Given the description of an element on the screen output the (x, y) to click on. 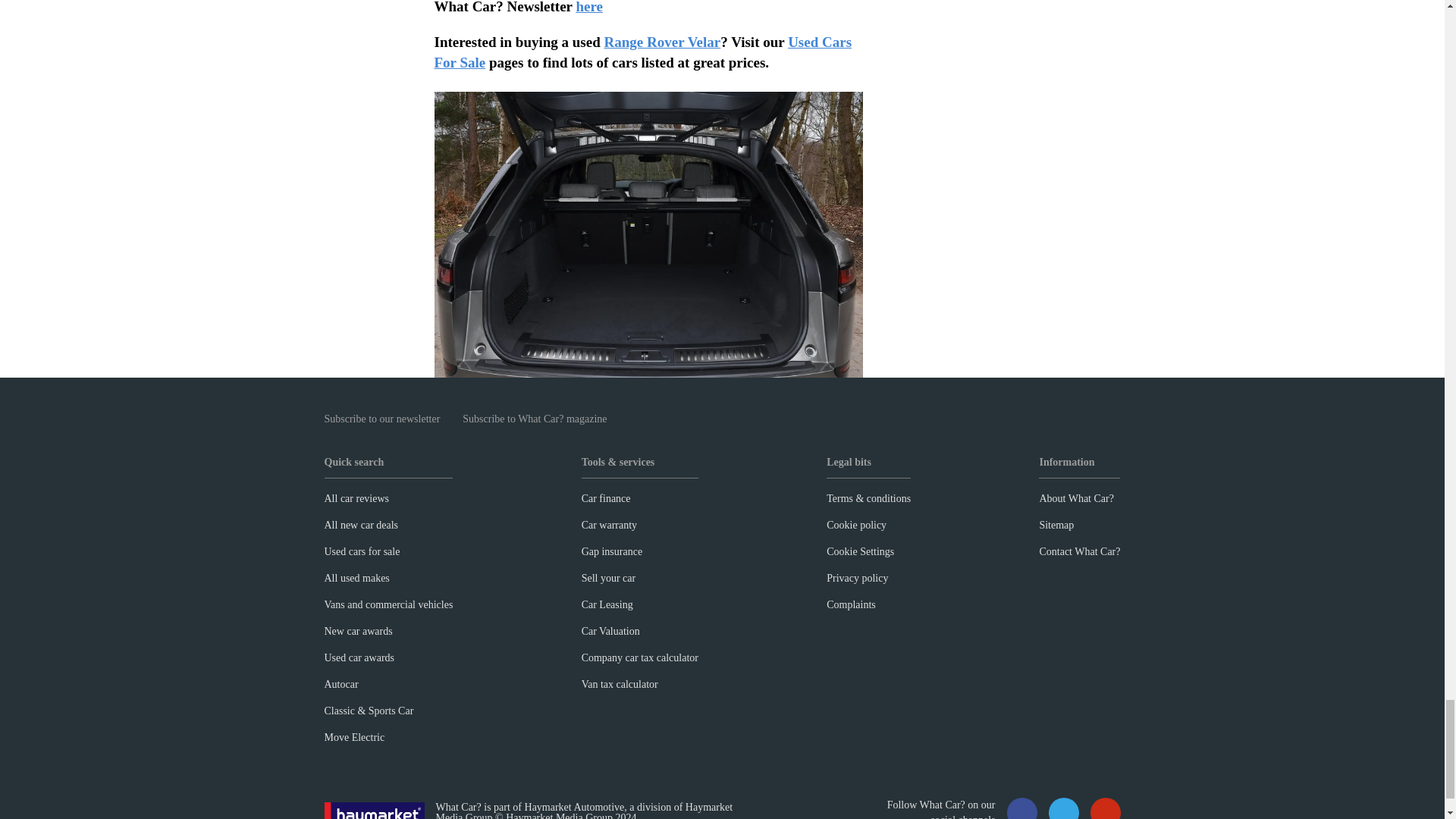
Haymarket (374, 810)
